Given the description of an element on the screen output the (x, y) to click on. 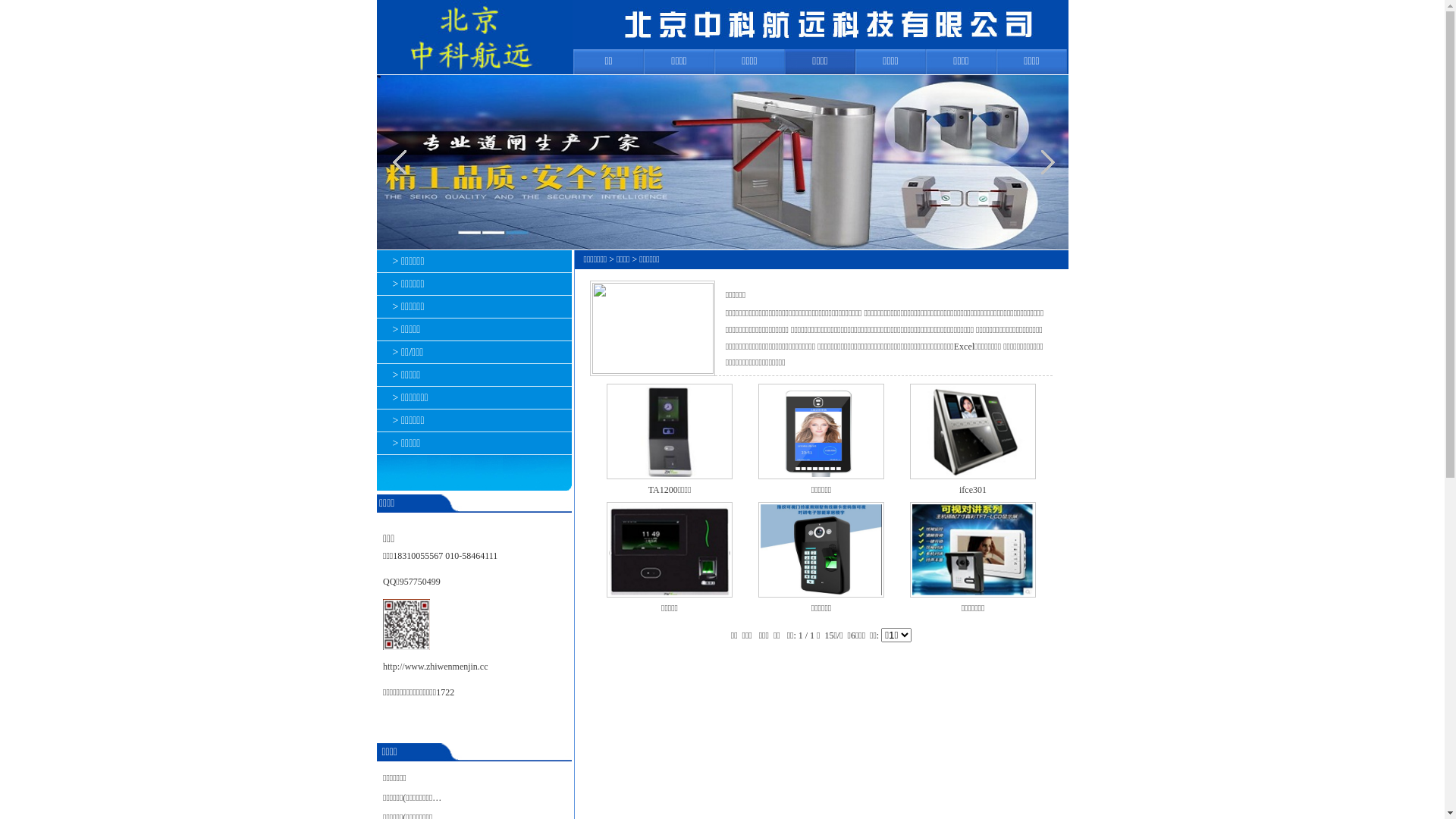
http://www.zhiwenmenjin.cc Element type: text (435, 666)
ifce301 Element type: text (972, 489)
